Given the description of an element on the screen output the (x, y) to click on. 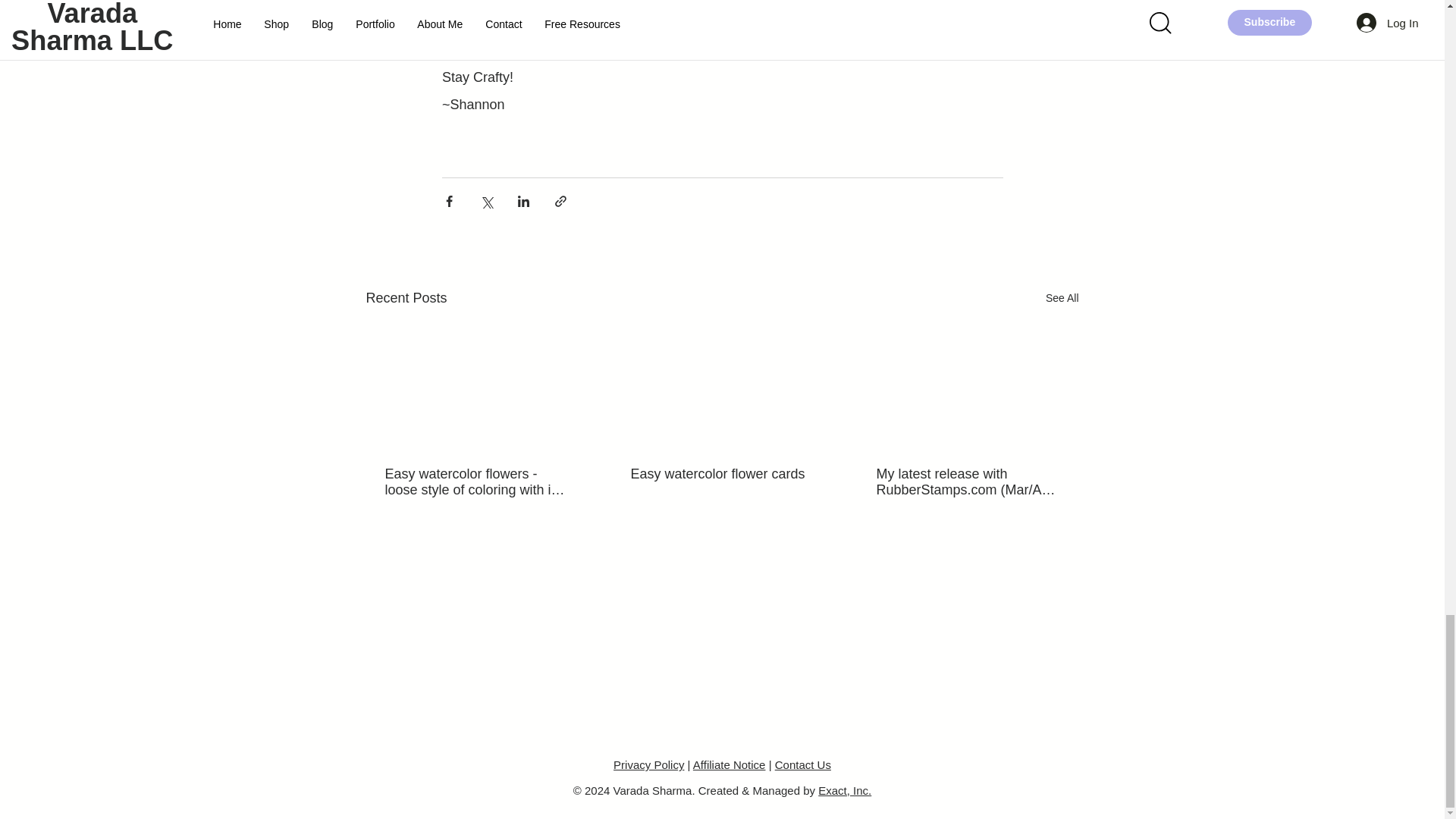
Exact, Inc. (844, 789)
See All (1061, 298)
Affiliate Notice (729, 764)
Privacy Policy (648, 764)
Easy watercolor flower cards (721, 474)
Contact Us (802, 764)
